Given the description of an element on the screen output the (x, y) to click on. 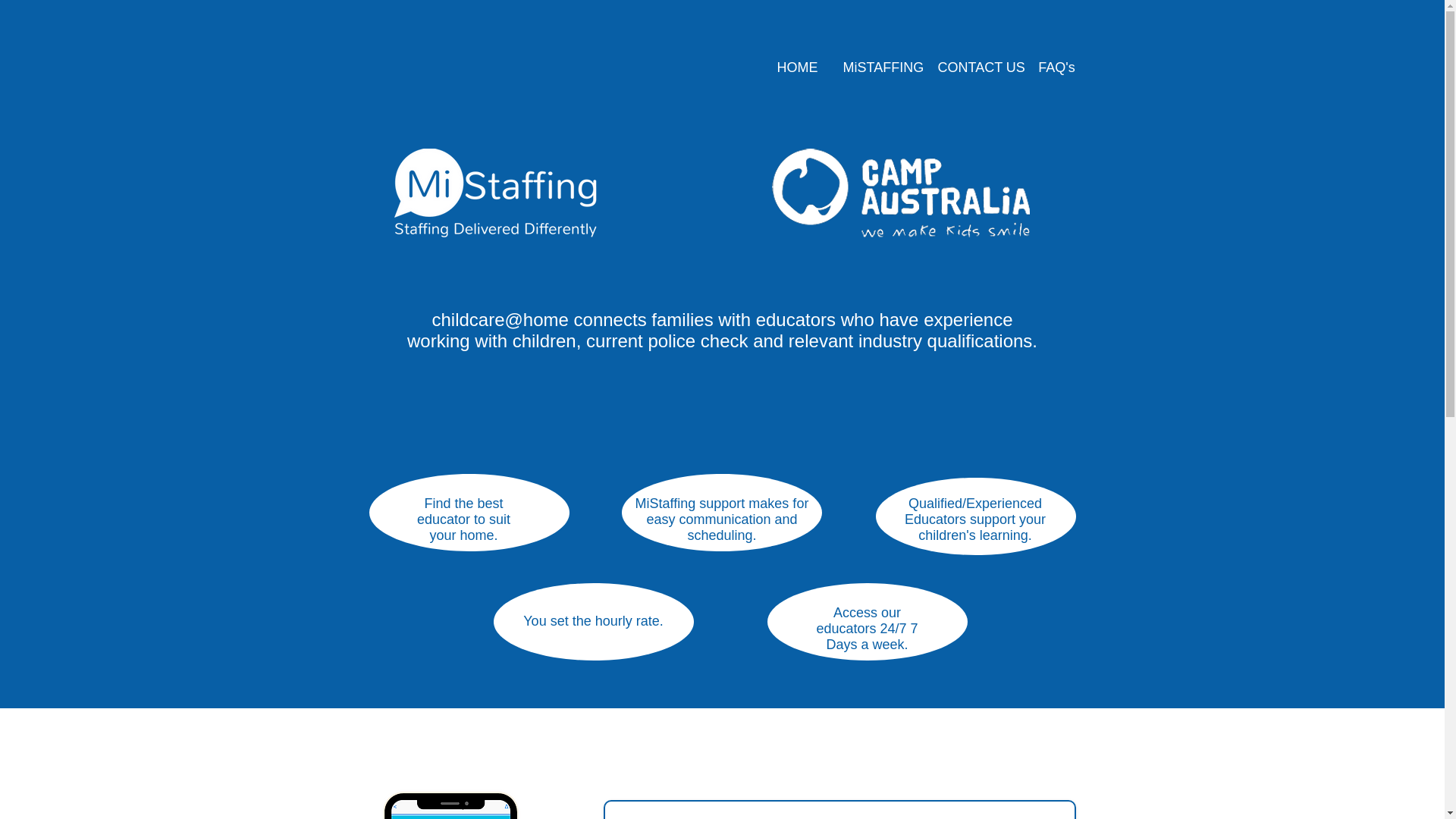
CONTACT US (974, 67)
HOME (796, 67)
MiSTAFFING (878, 67)
FAQ's (1056, 67)
